Given the description of an element on the screen output the (x, y) to click on. 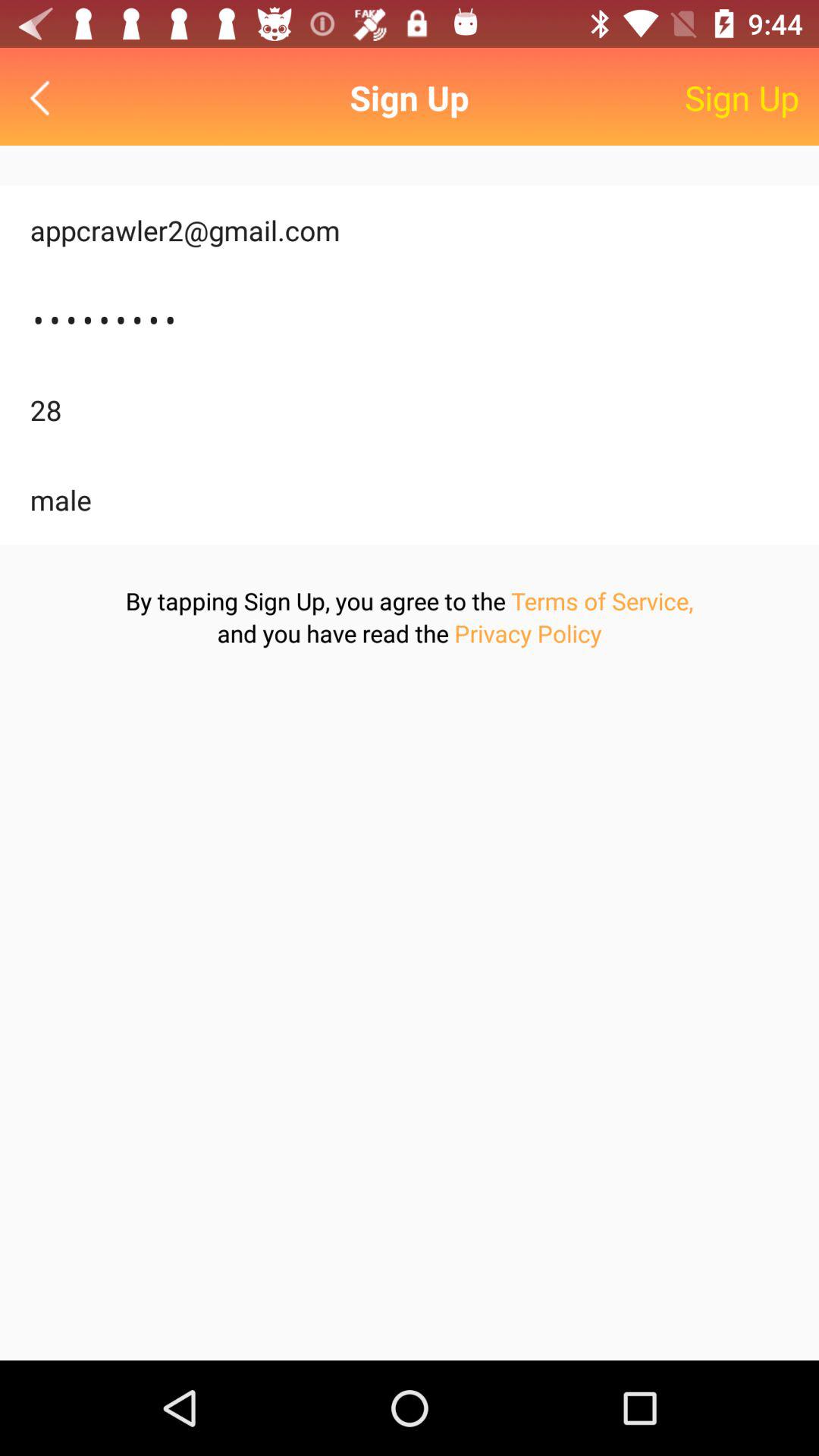
click item above the by tapping sign (409, 499)
